Given the description of an element on the screen output the (x, y) to click on. 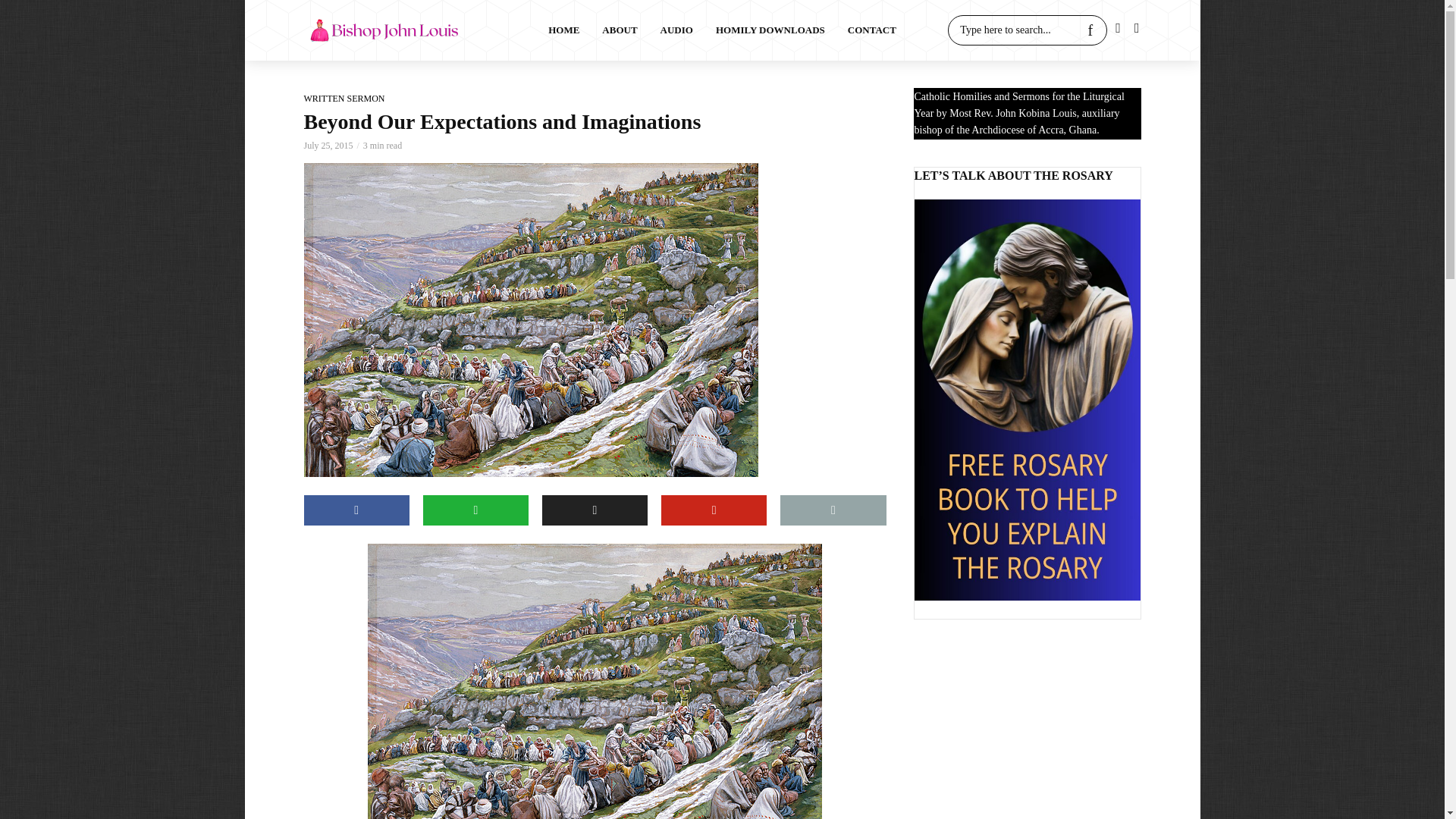
ABOUT (619, 30)
HOMILY DOWNLOADS (769, 30)
WRITTEN SERMON (343, 98)
AUDIO (676, 30)
CONTACT (871, 30)
HOME (564, 30)
